Given the description of an element on the screen output the (x, y) to click on. 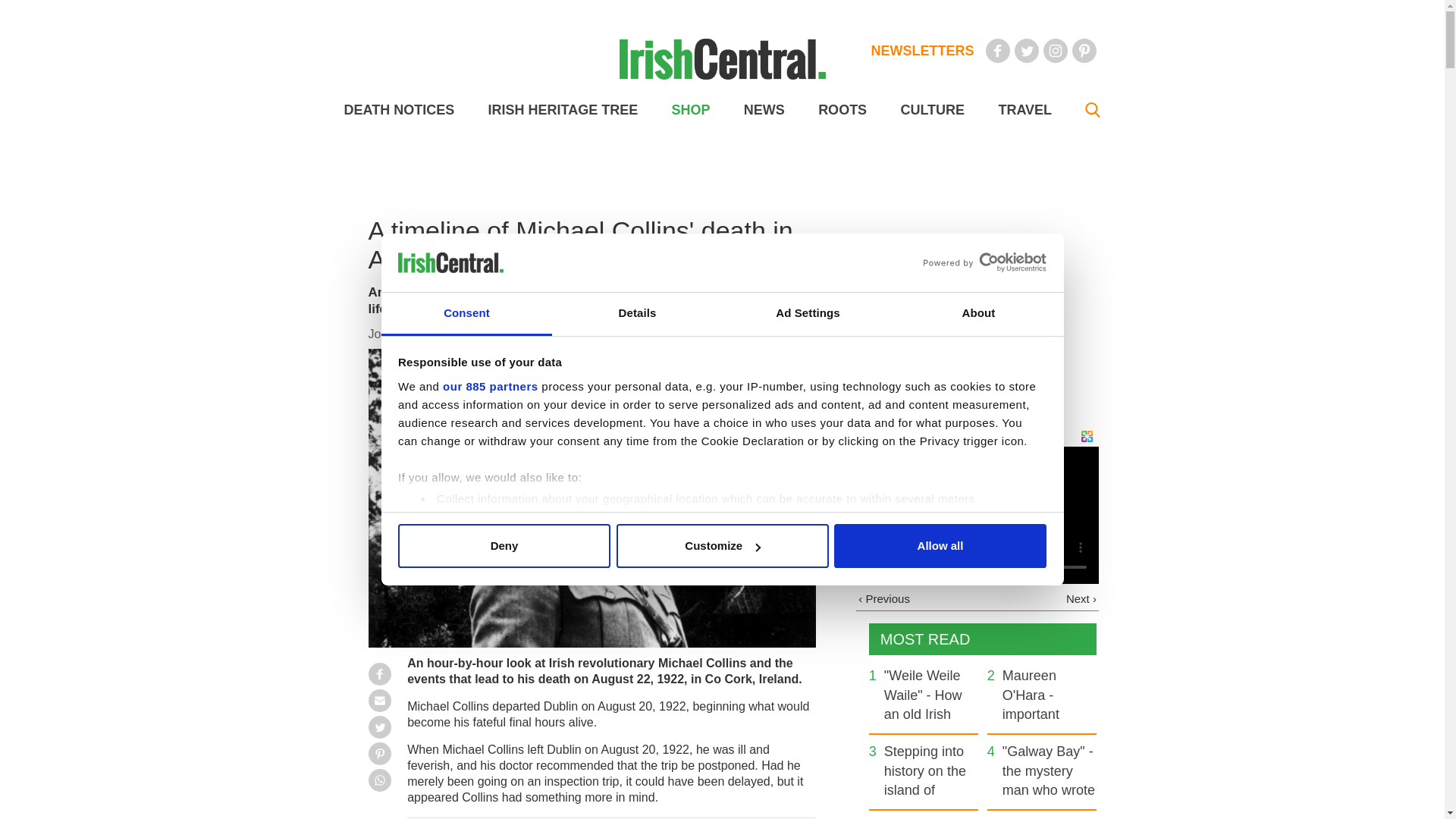
our 885 partners (490, 386)
Details (636, 313)
Ad Settings (807, 313)
About (978, 313)
details section (927, 536)
Consent (465, 313)
